Given the description of an element on the screen output the (x, y) to click on. 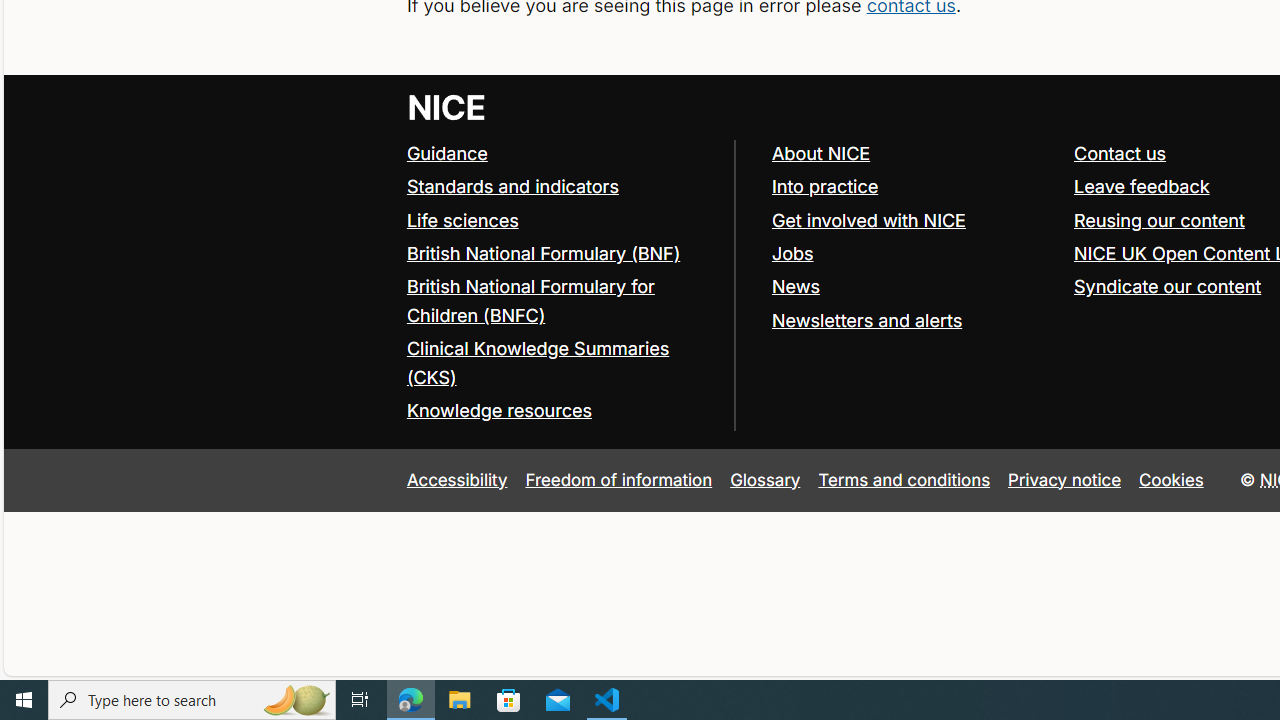
Newsletters and alerts (913, 321)
Accessibility (456, 479)
Get involved with NICE (868, 219)
Life sciences (461, 219)
Knowledge resources (498, 410)
Get involved with NICE (913, 220)
Glossary (765, 479)
About NICE (913, 153)
Privacy notice (1065, 479)
British National Formulary for Children (BNFC) (530, 300)
Cookies (1171, 479)
